Given the description of an element on the screen output the (x, y) to click on. 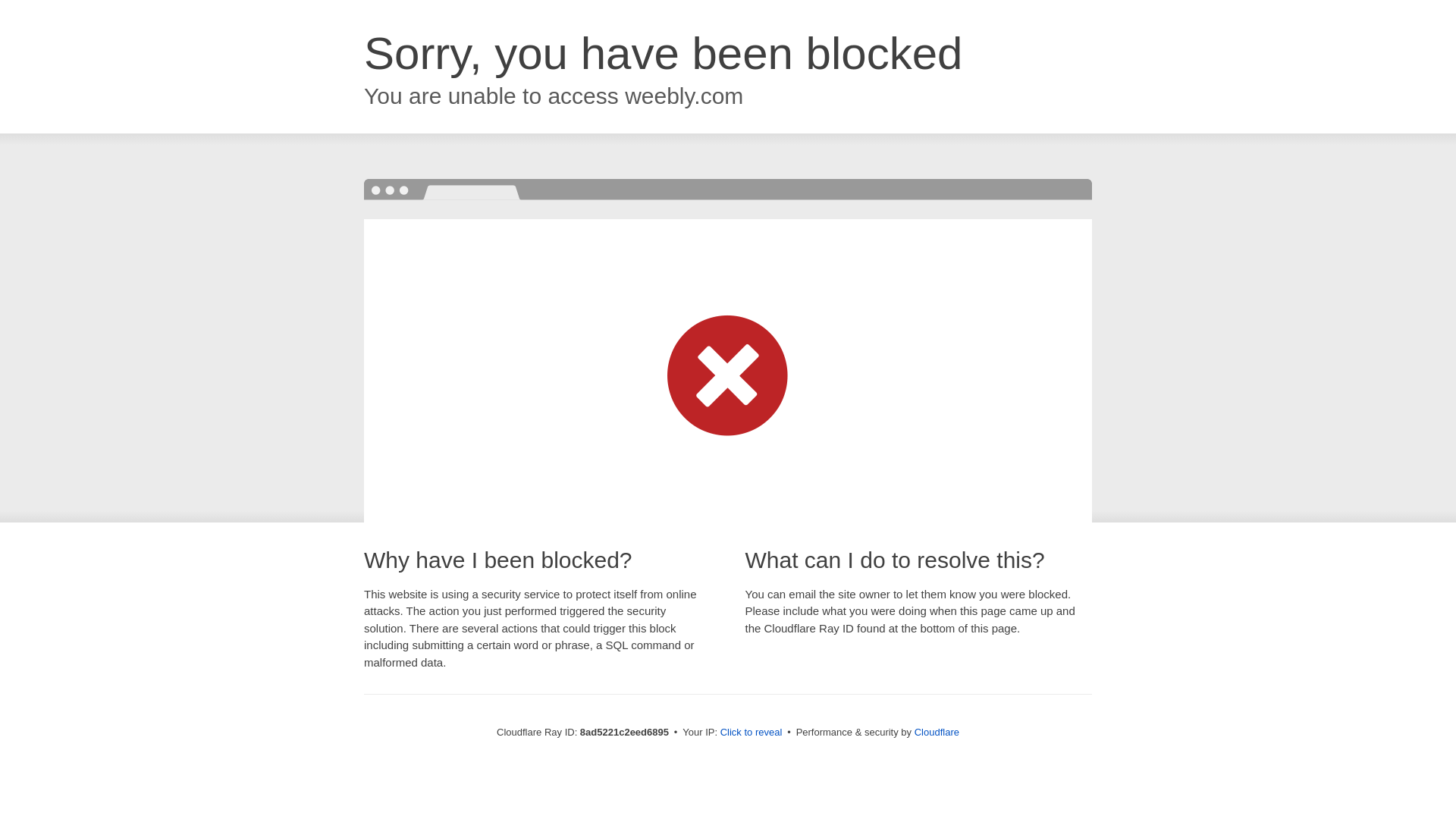
Cloudflare (936, 731)
Click to reveal (751, 732)
